Given the description of an element on the screen output the (x, y) to click on. 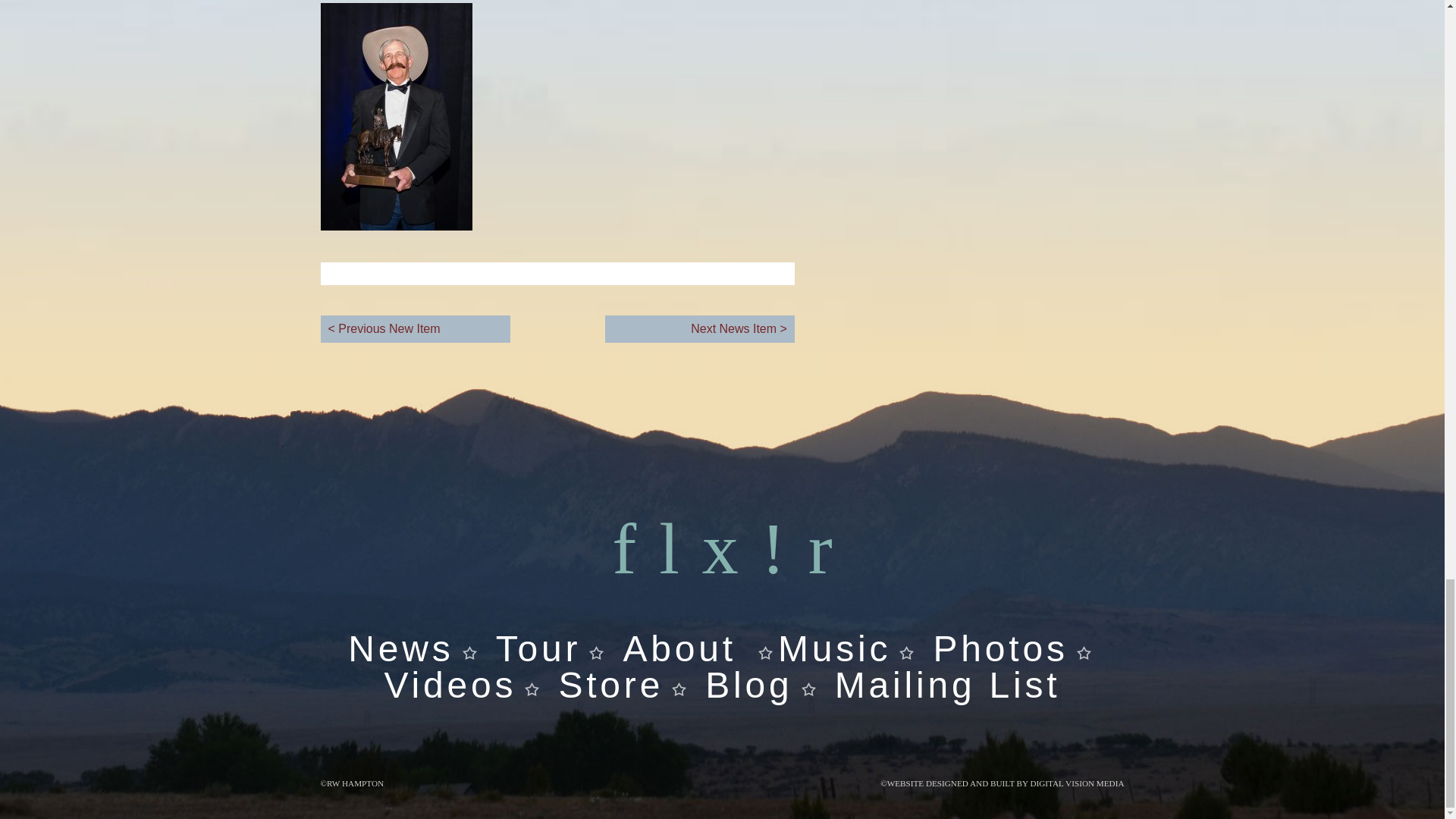
Tour (538, 648)
Photos (1000, 648)
Videos (740, 703)
About (679, 648)
News (399, 648)
Music (834, 648)
